Given the description of an element on the screen output the (x, y) to click on. 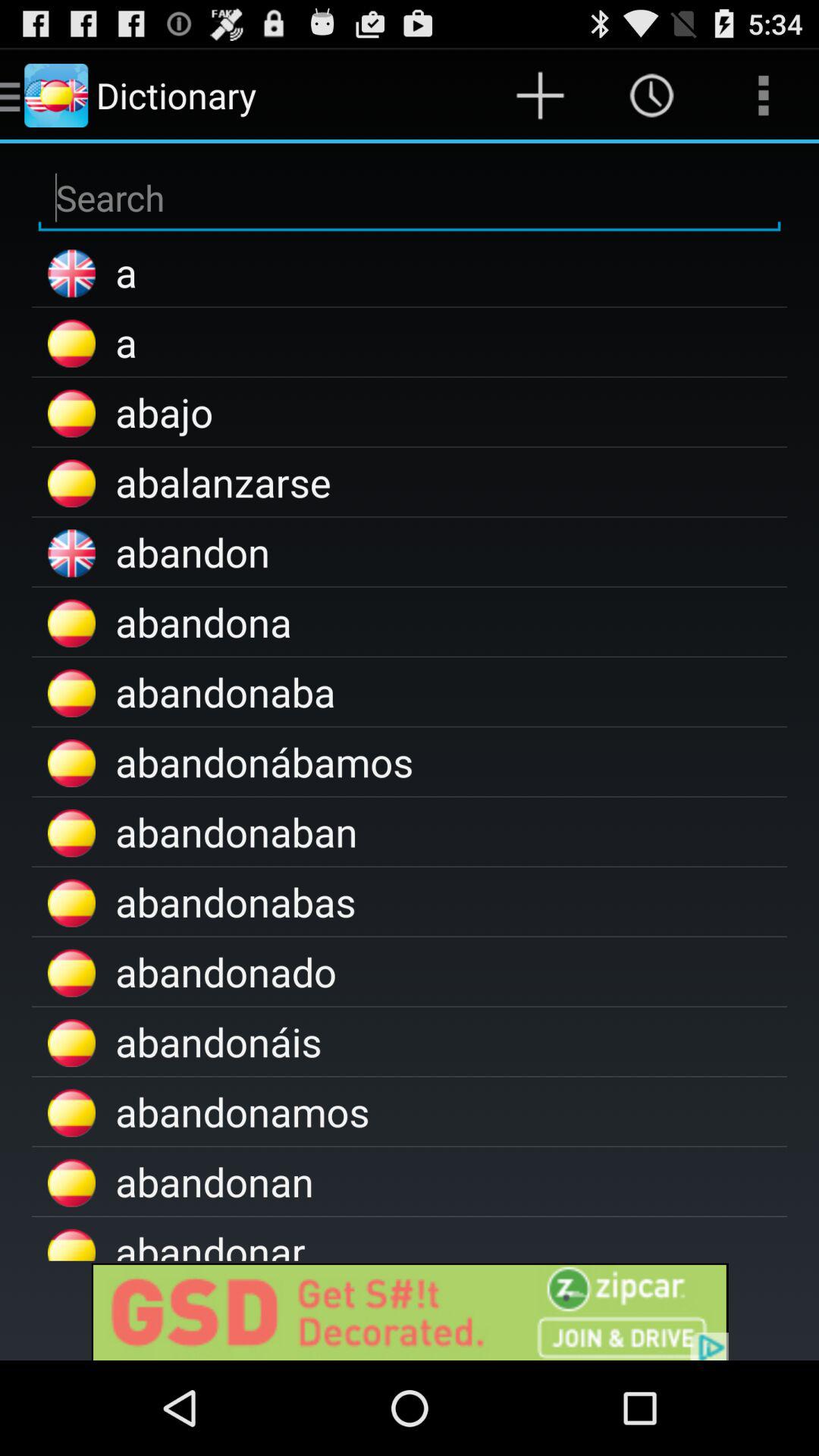
type in search box (409, 198)
